Given the description of an element on the screen output the (x, y) to click on. 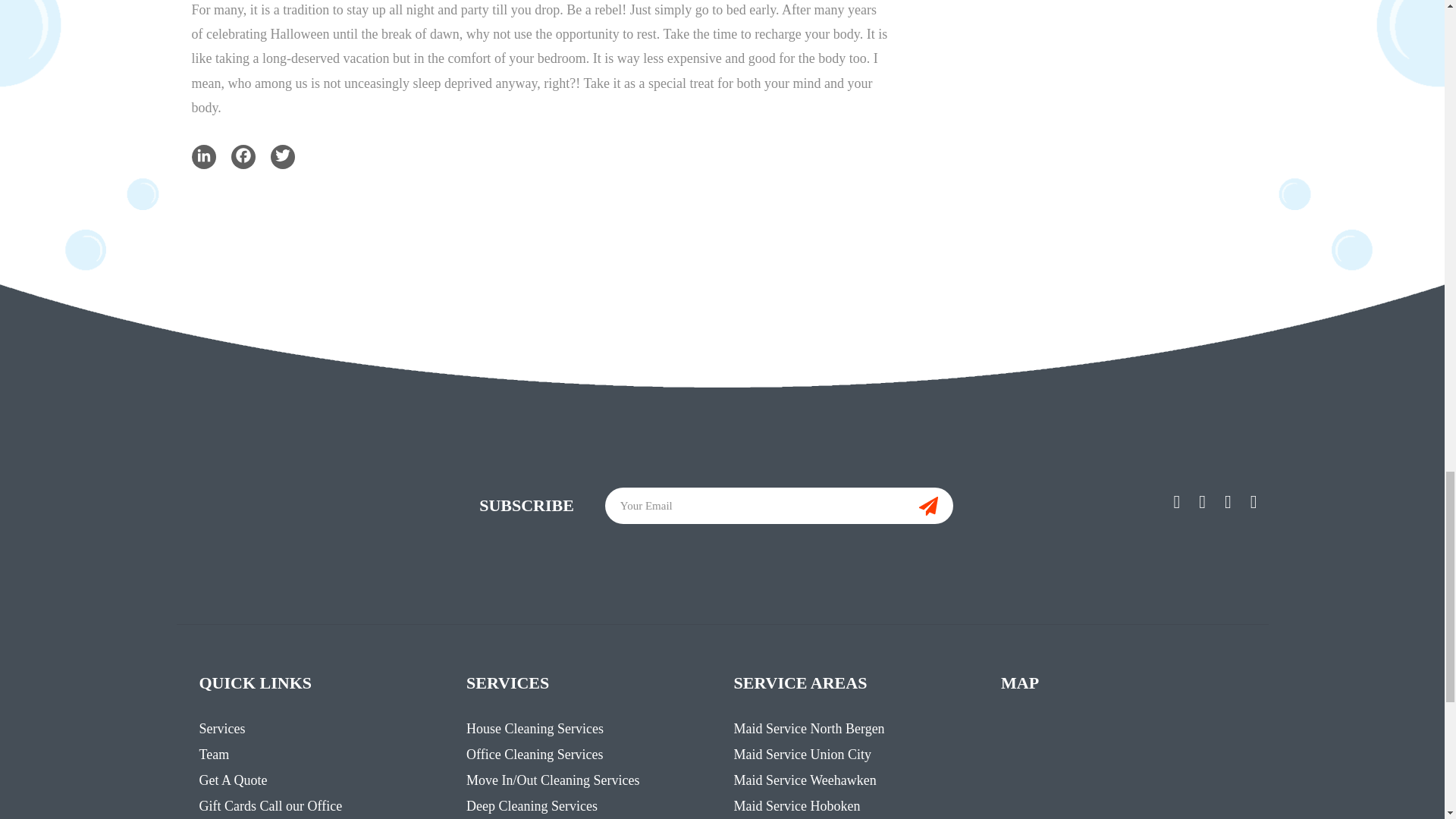
Twitter (281, 156)
LinkedIn (202, 156)
Twitter (281, 156)
LinkedIn (202, 156)
Facebook (242, 156)
Facebook (242, 156)
